Given the description of an element on the screen output the (x, y) to click on. 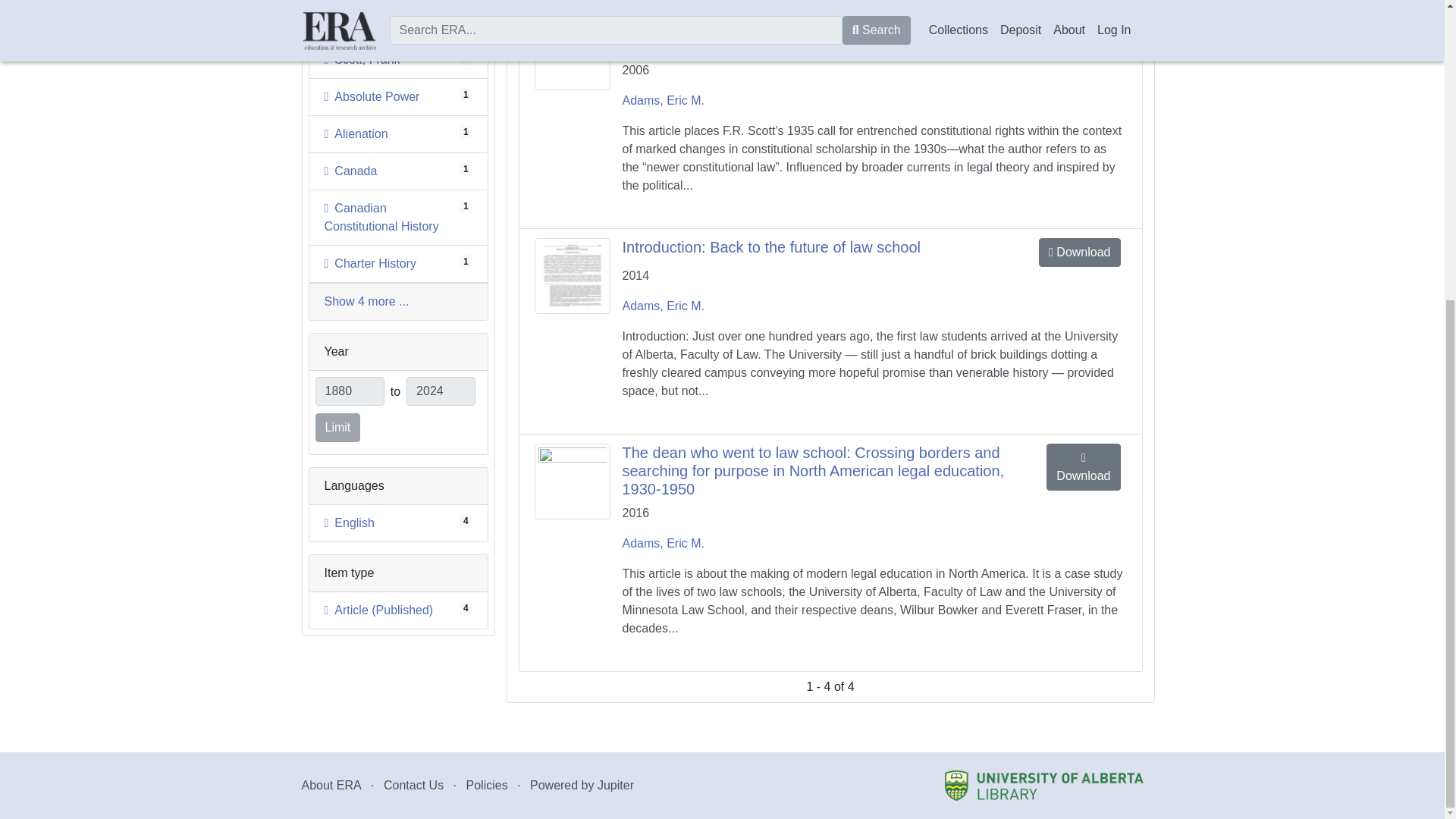
Limit (338, 427)
1880 (349, 522)
Limit (381, 216)
Introduction: Back to the future of law school (349, 390)
Show 4 more ... (338, 427)
2024 (356, 133)
